Given the description of an element on the screen output the (x, y) to click on. 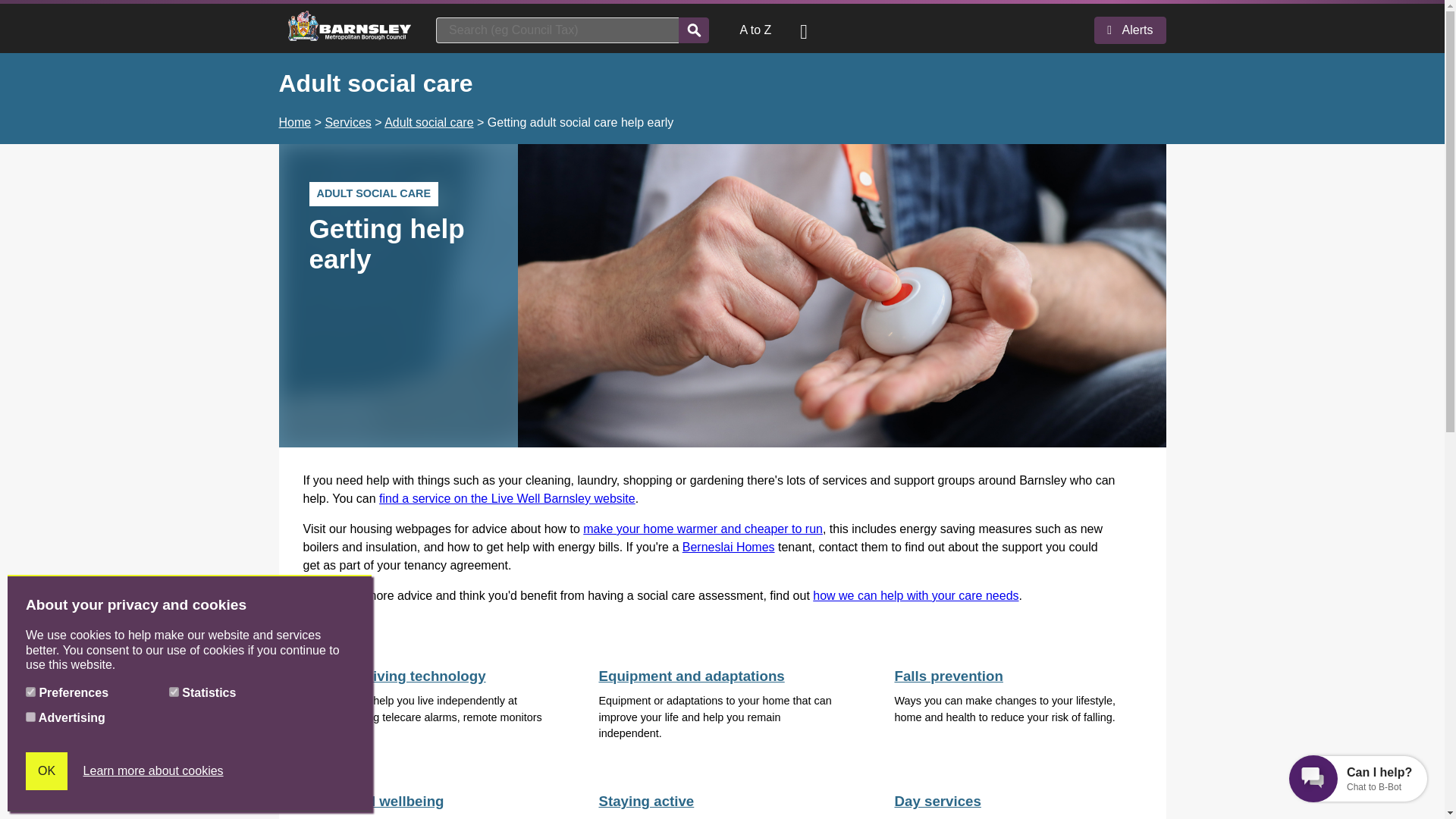
Chat Widget (1358, 777)
Day services (936, 801)
Learn more about cookies (153, 771)
True (173, 691)
how we can help with your care needs (914, 594)
Adult social care (428, 122)
True (30, 691)
Home (295, 122)
Make your home warmer and cheaper to run (702, 528)
Equipment and adaptations (691, 675)
Alerts (1130, 30)
make your home warmer and cheaper to run (702, 528)
OK (46, 771)
find a service on the Live Well Barnsley website (506, 498)
True (30, 716)
